Given the description of an element on the screen output the (x, y) to click on. 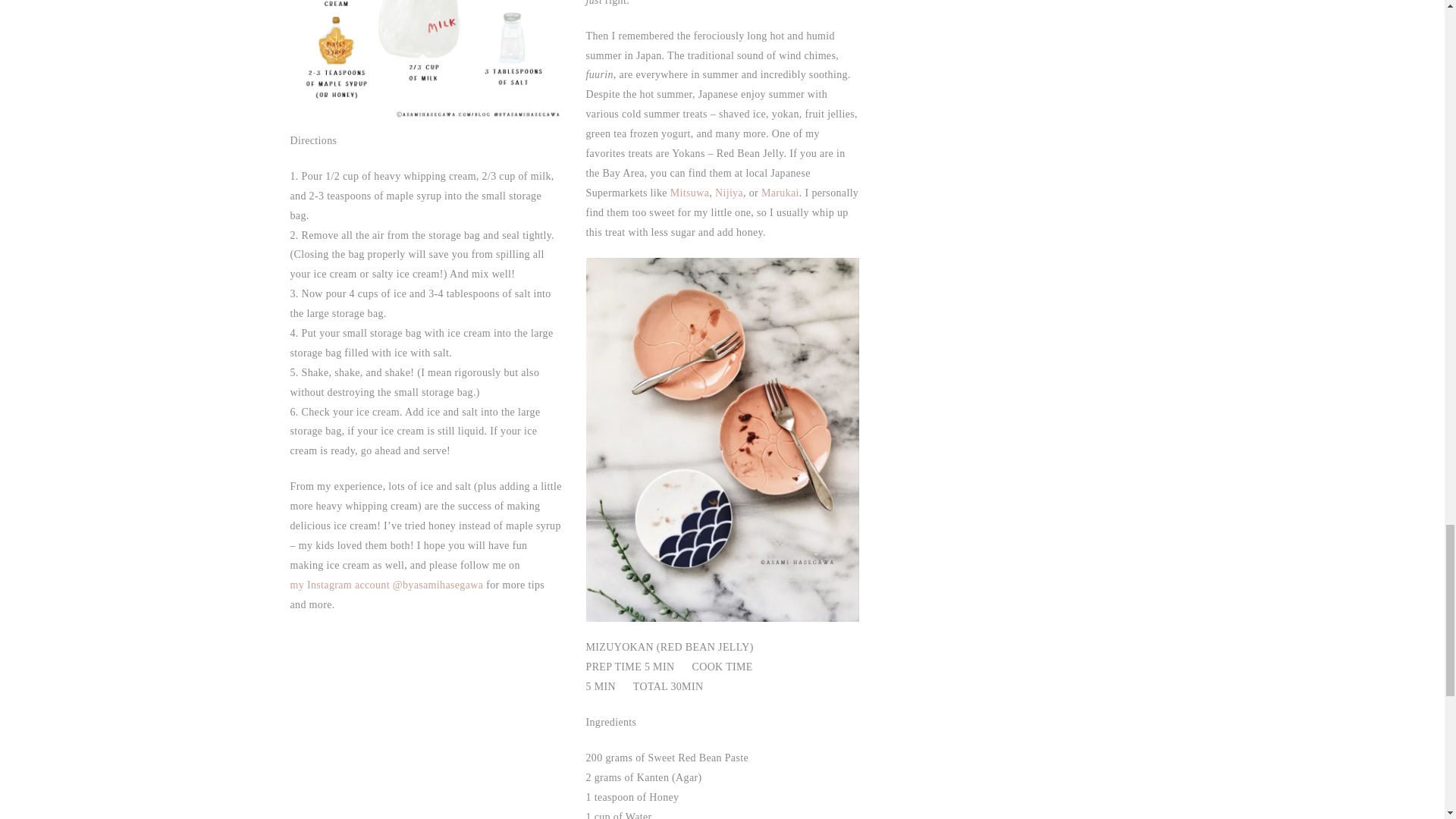
Nijiya (728, 193)
Mitsuwa (689, 193)
Marukai (780, 193)
